Given the description of an element on the screen output the (x, y) to click on. 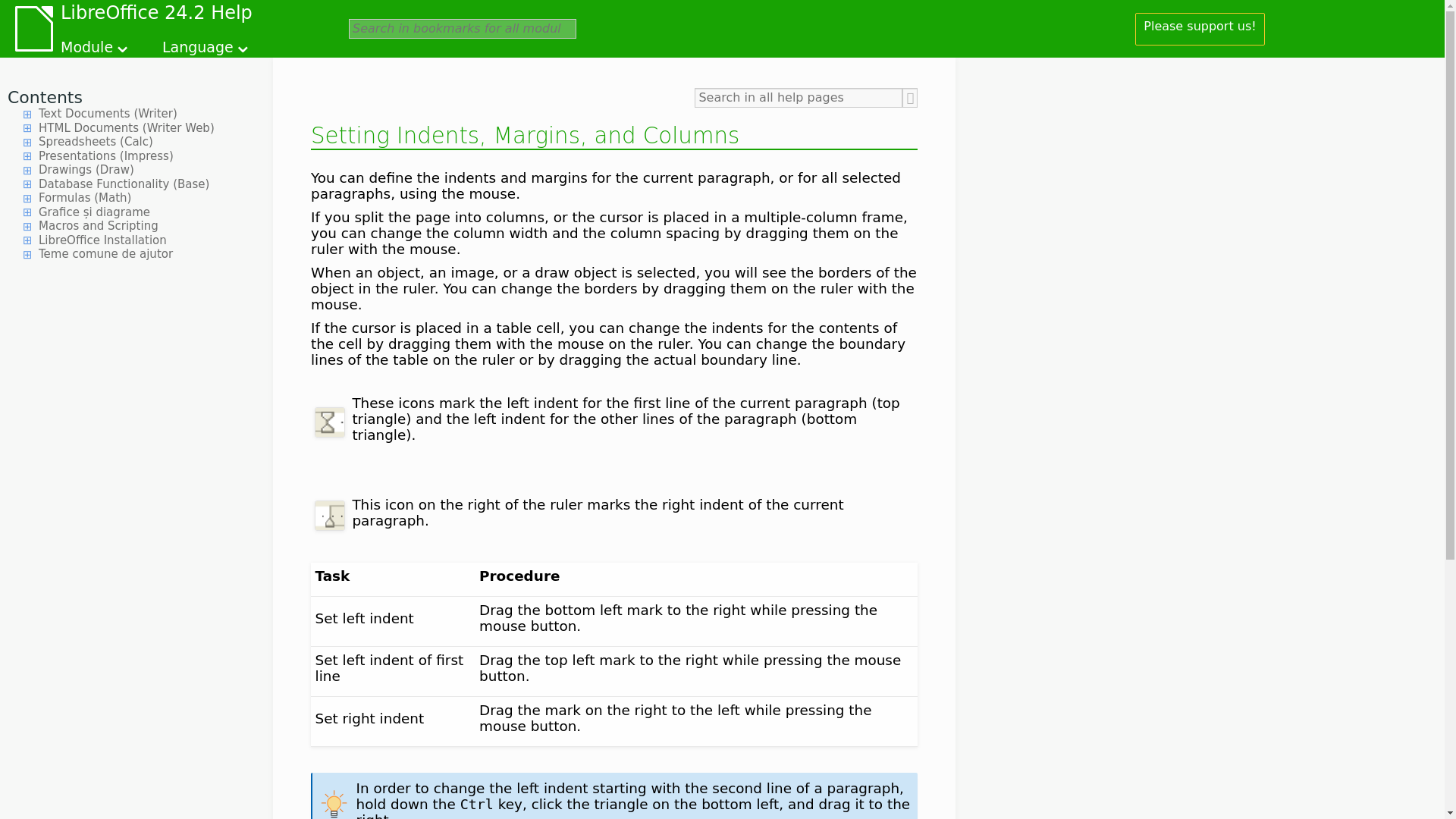
LibreOffice 24.2 Help (156, 15)
